Given the description of an element on the screen output the (x, y) to click on. 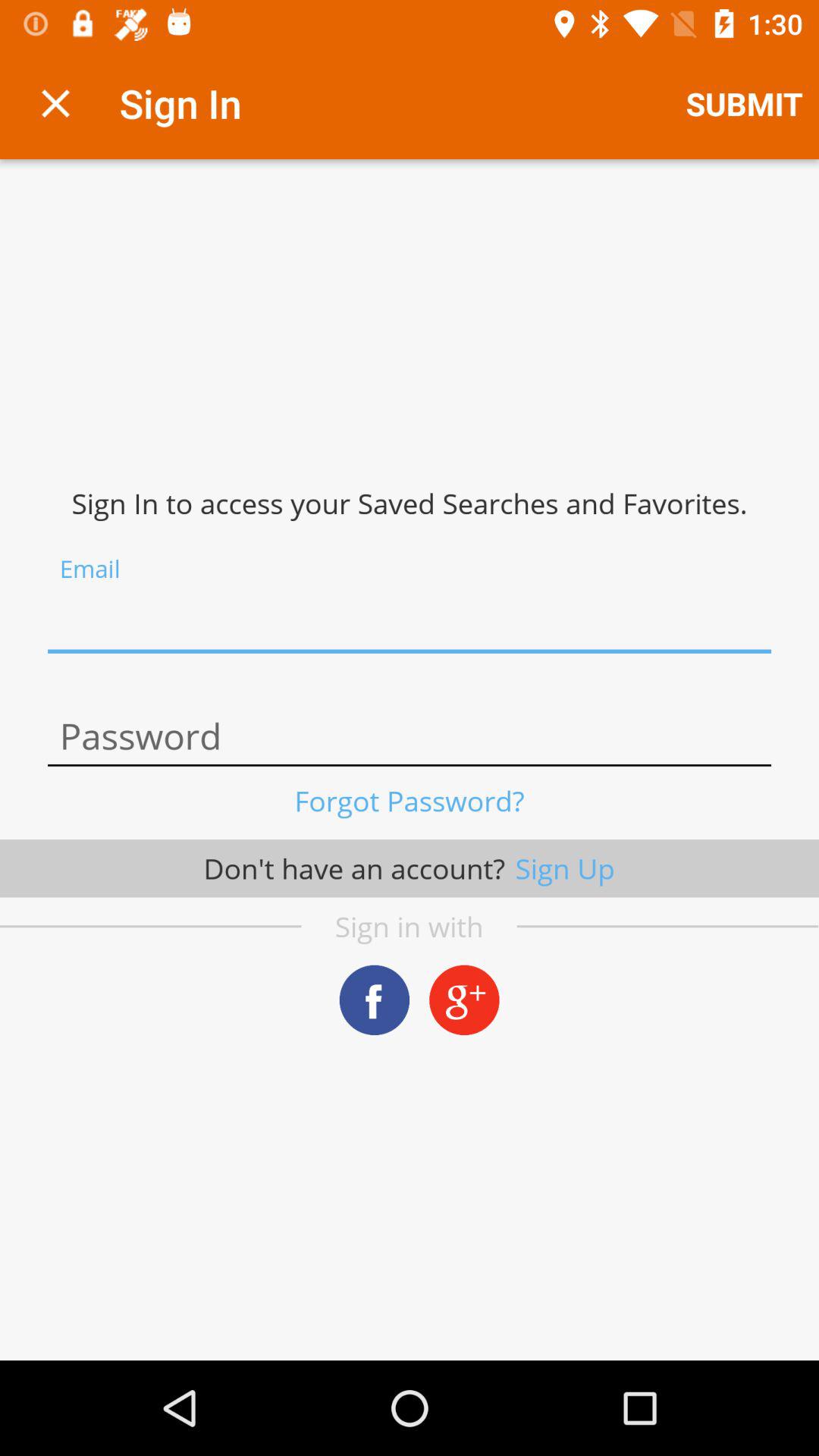
choose google plus account (464, 1000)
